Given the description of an element on the screen output the (x, y) to click on. 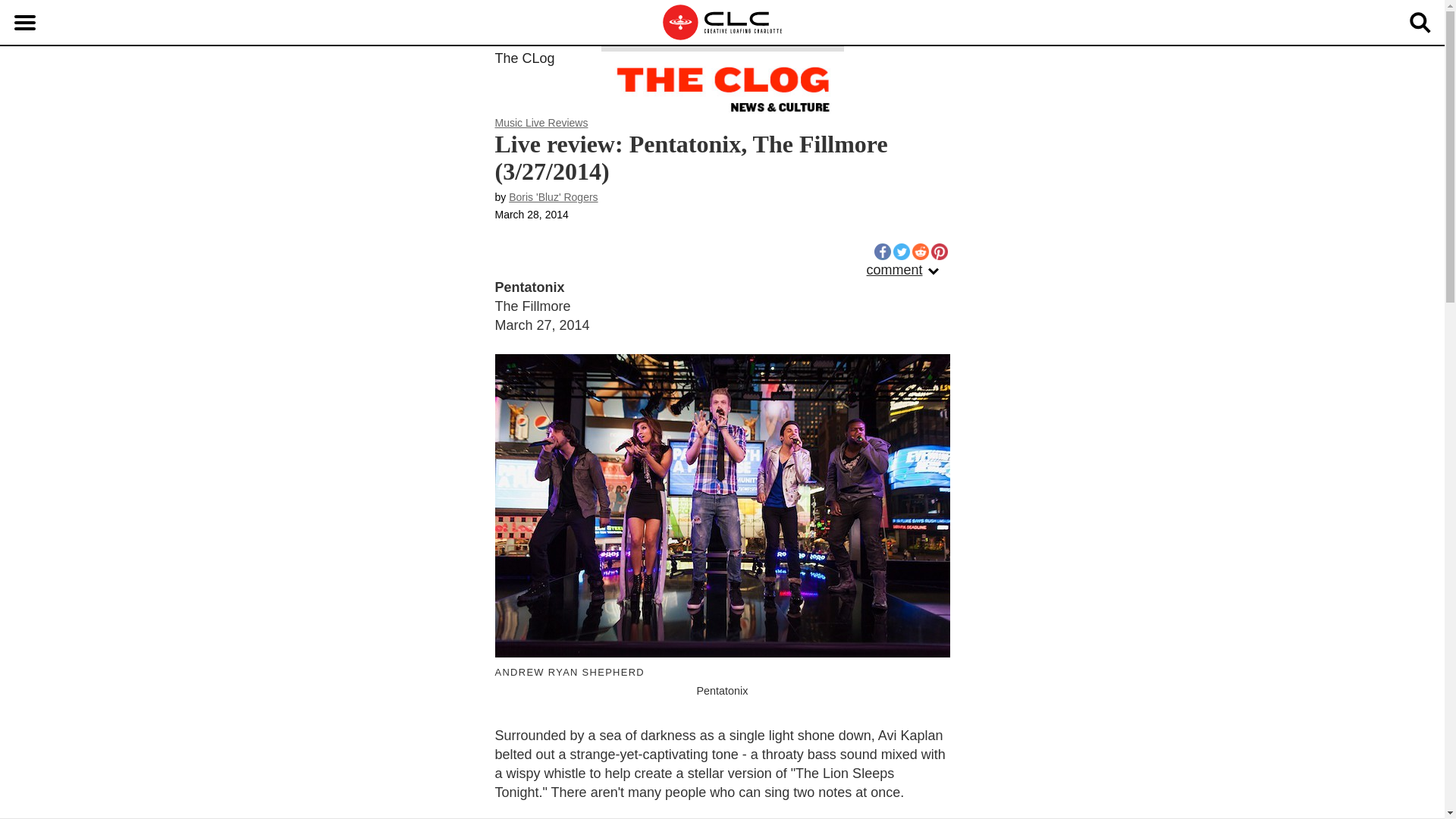
Music (509, 122)
comment (908, 269)
MENU (23, 22)
Pinterest (939, 251)
Twitter (901, 251)
Reddit (919, 251)
Facebook (881, 251)
Boris 'Bluz' Rogers (552, 196)
Creative Loafing Charlotte (722, 22)
Live Reviews (556, 122)
SEARCH (1419, 22)
